Given the description of an element on the screen output the (x, y) to click on. 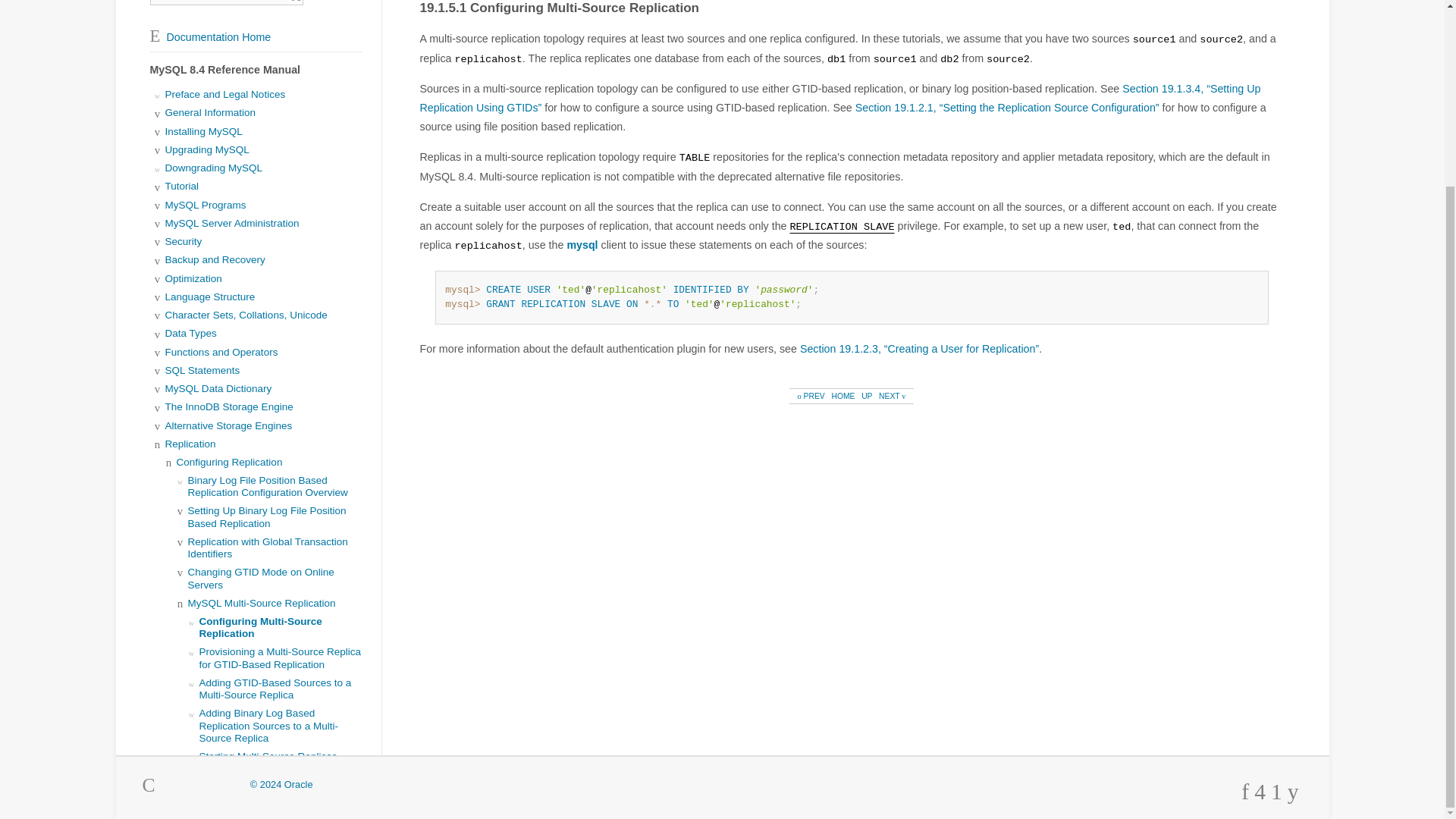
Search this Manual (217, 2)
Search (295, 2)
Search this Manual (217, 2)
Documentation Home (209, 37)
General Information (210, 112)
Preface and Legal Notices (225, 93)
Installing MySQL (204, 131)
